Given the description of an element on the screen output the (x, y) to click on. 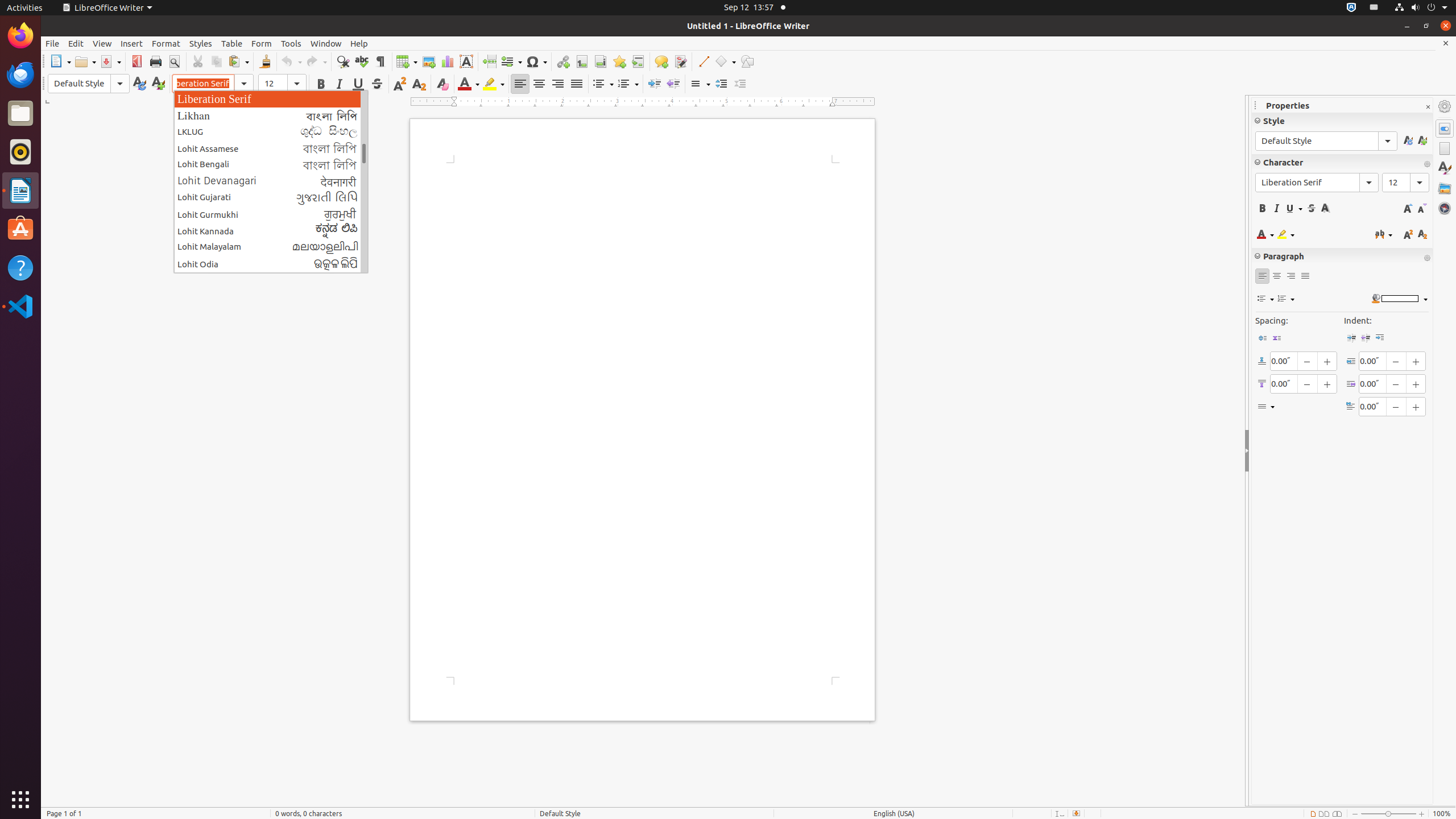
Character Spacing Element type: push-button (1383, 234)
Formatting Marks Element type: toggle-button (379, 61)
Clear Element type: push-button (441, 83)
Insert Element type: menu (131, 43)
Spelling Element type: push-button (361, 61)
